Given the description of an element on the screen output the (x, y) to click on. 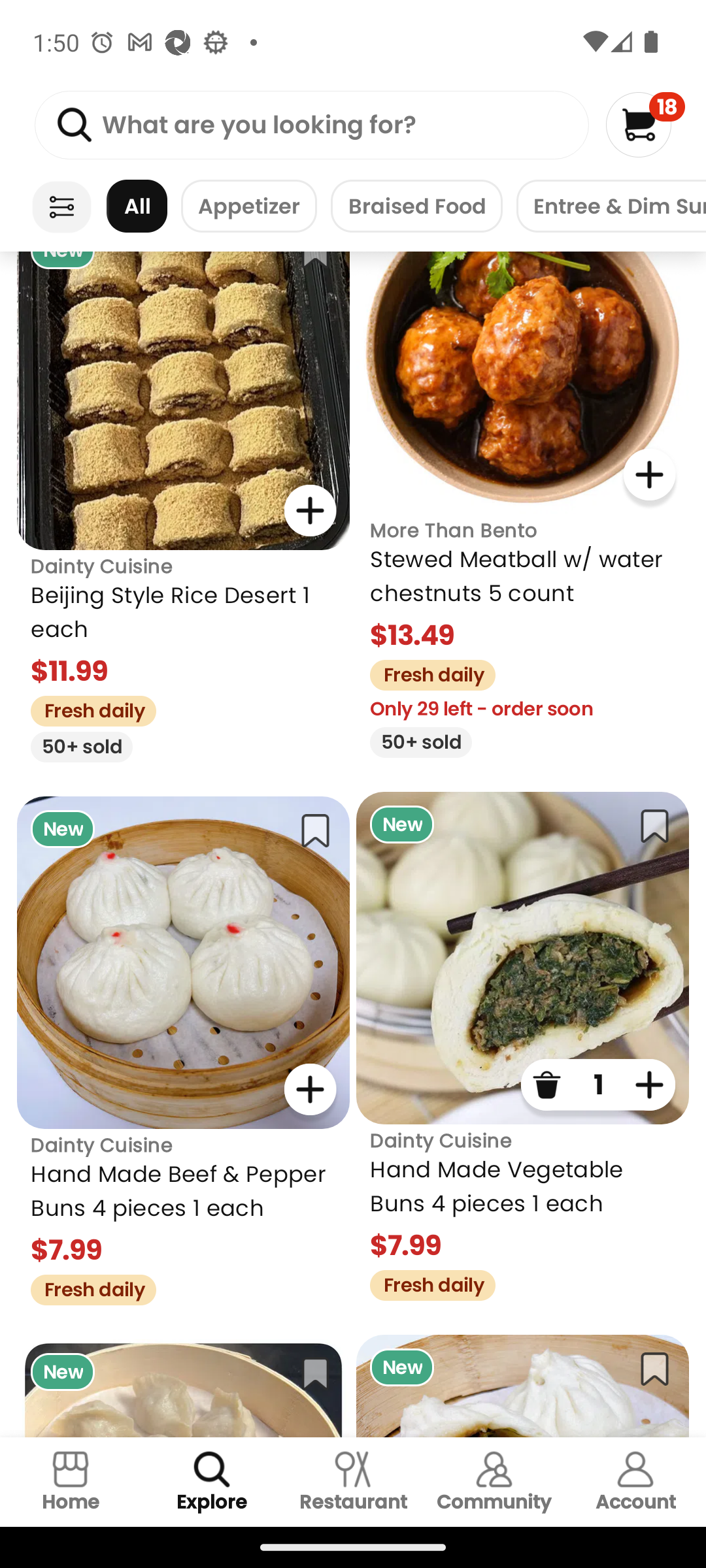
What are you looking for? (311, 124)
18 (644, 124)
All (136, 206)
Appetizer (248, 206)
Braised Food (416, 206)
Entree & Dim Sum (611, 206)
Fresh daily (425, 672)
Fresh daily (86, 707)
Fresh daily (425, 1283)
Fresh daily (86, 1287)
Home (70, 1482)
Explore (211, 1482)
Restaurant (352, 1482)
Community (493, 1482)
Account (635, 1482)
